Given the description of an element on the screen output the (x, y) to click on. 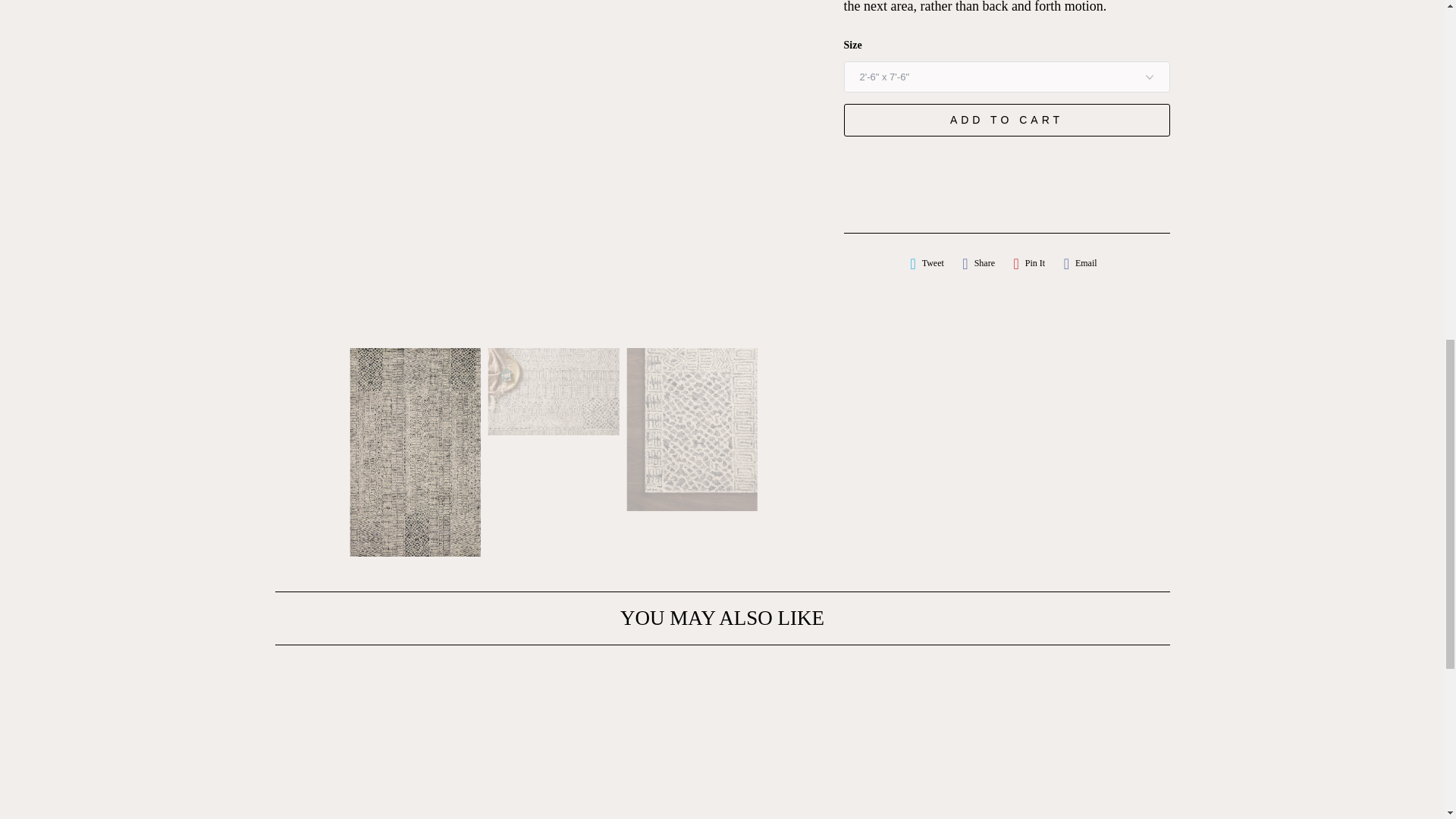
Share this on Facebook (978, 263)
Share this on Twitter (926, 263)
Email this to a friend (1080, 263)
Share this on Pinterest (1029, 263)
